Given the description of an element on the screen output the (x, y) to click on. 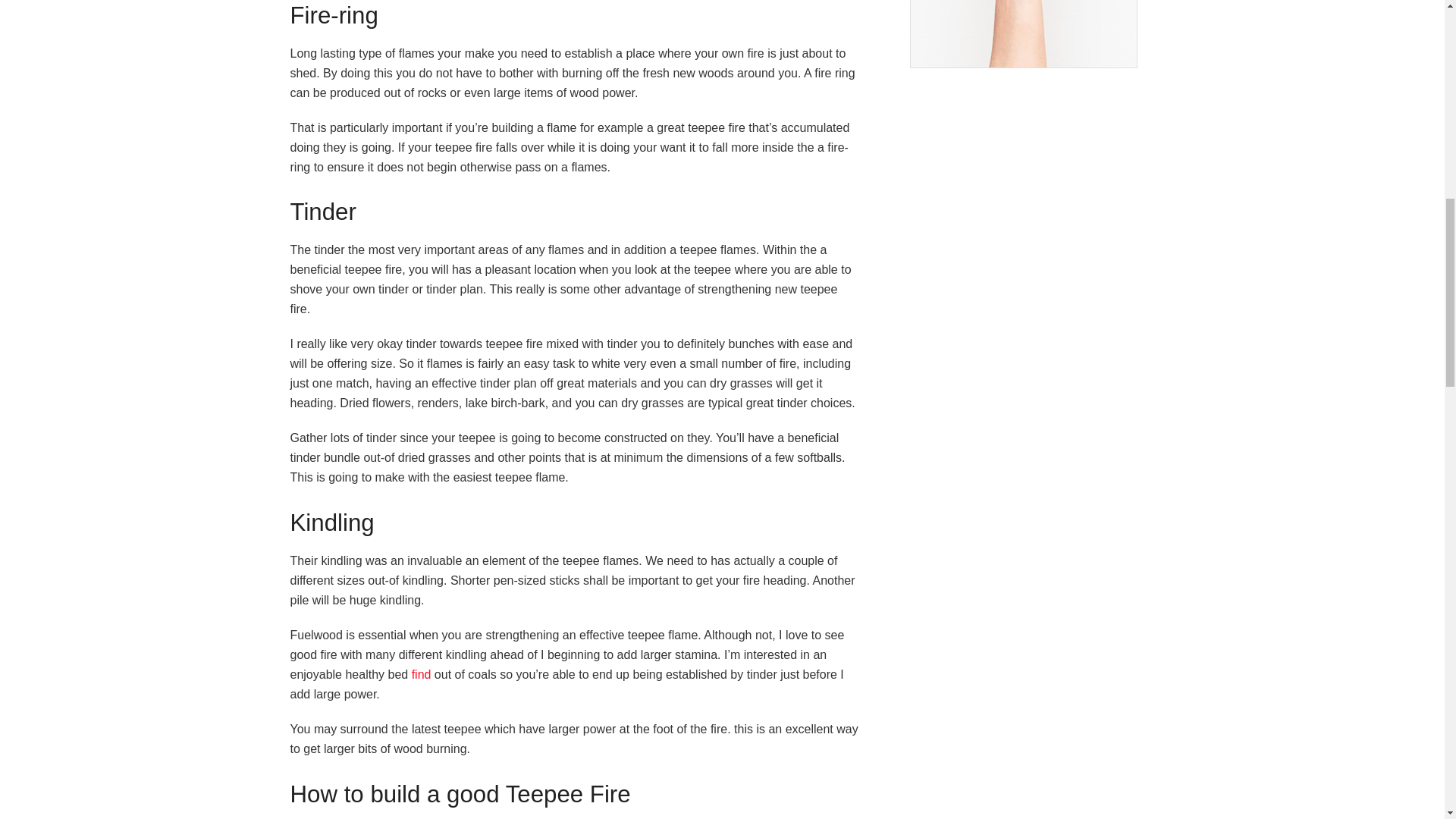
find (421, 674)
